Given the description of an element on the screen output the (x, y) to click on. 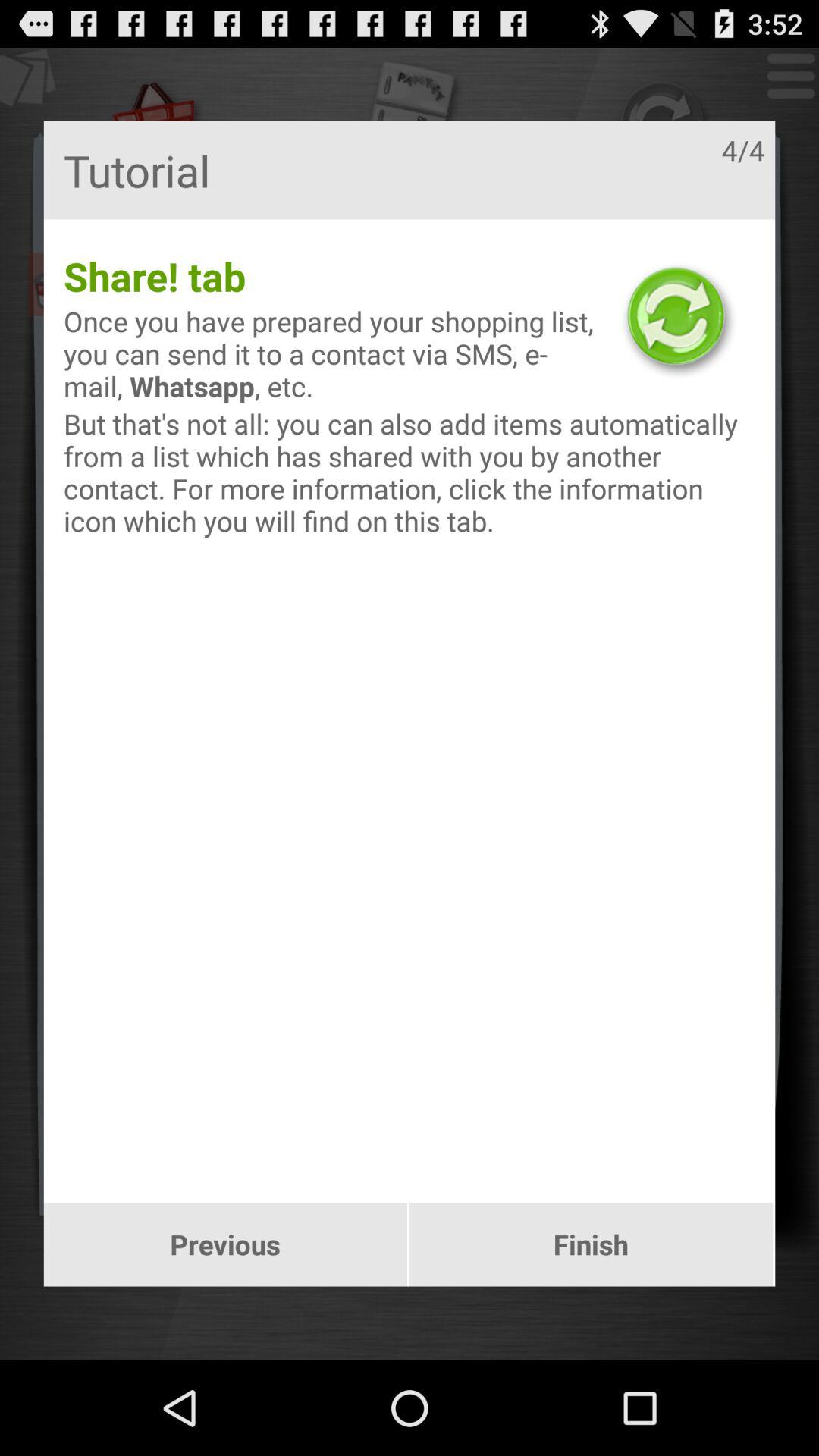
open finish (590, 1244)
